Given the description of an element on the screen output the (x, y) to click on. 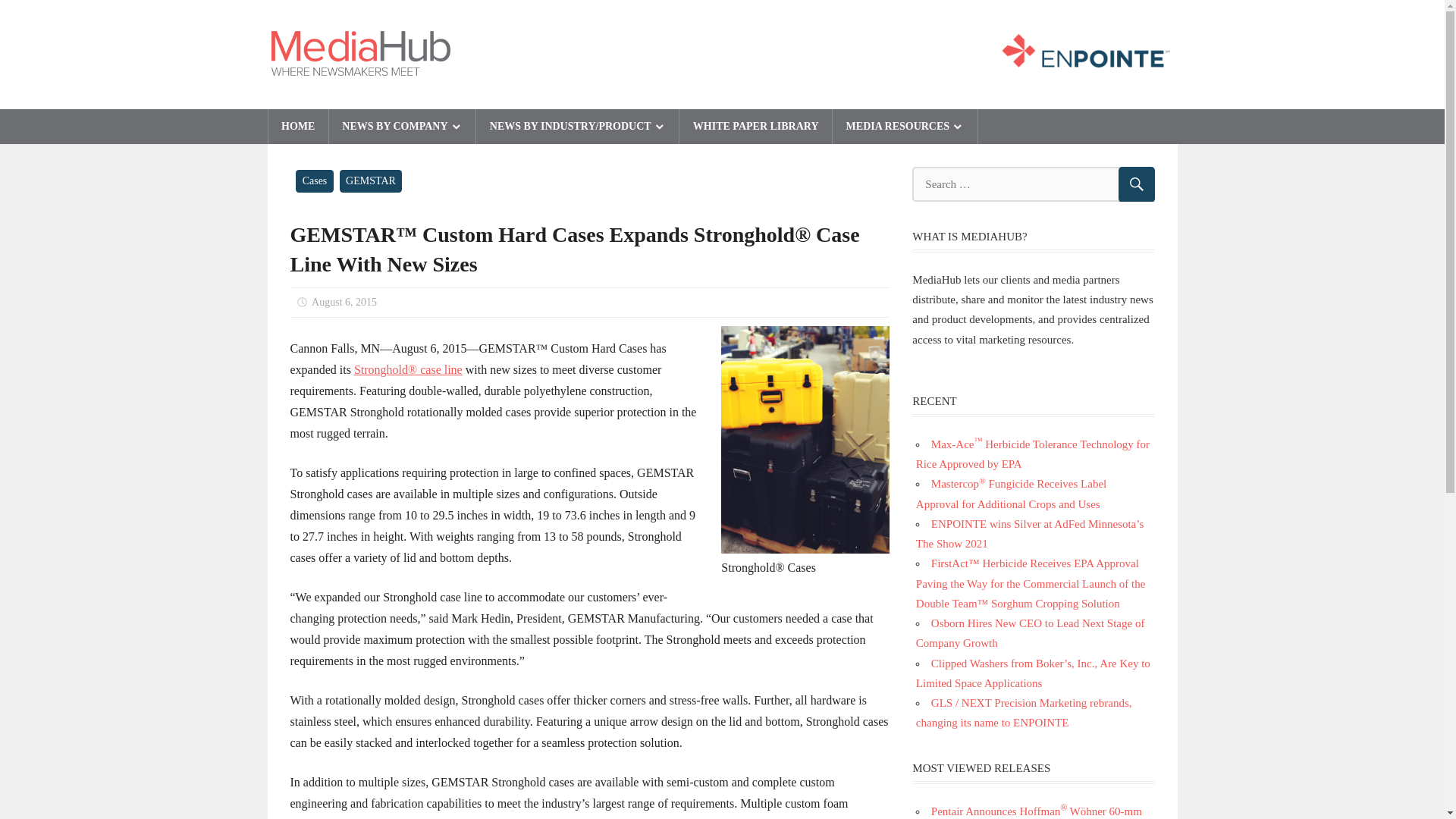
HOME (298, 126)
NEWS BY COMPANY (402, 126)
Search for: (1033, 184)
View all posts by ENPOINTE (437, 301)
12:00 am (344, 301)
